Given the description of an element on the screen output the (x, y) to click on. 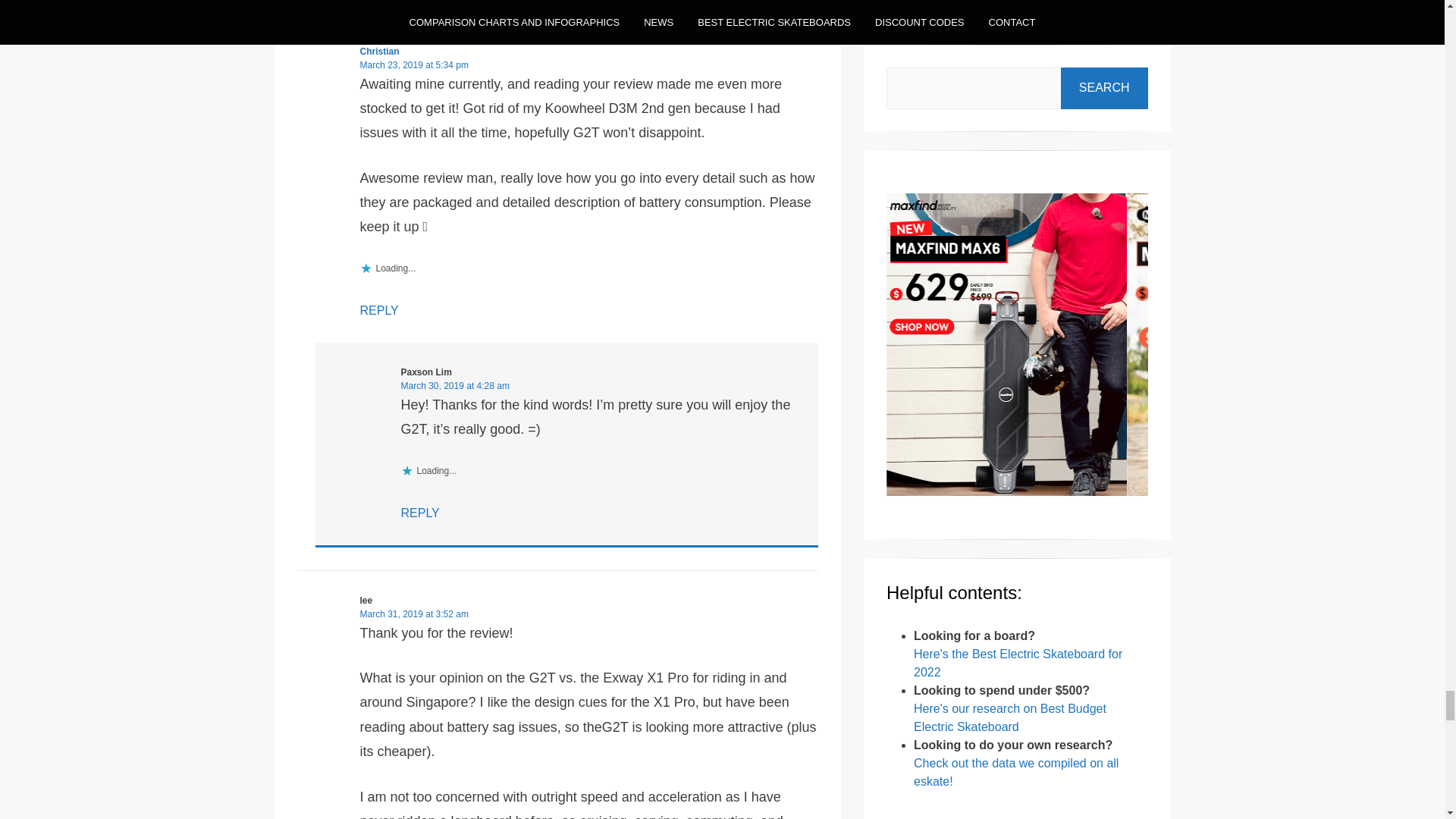
REPLY (378, 309)
March 30, 2019 at 4:28 am (454, 385)
March 23, 2019 at 5:34 pm (413, 64)
Christian (378, 50)
